Given the description of an element on the screen output the (x, y) to click on. 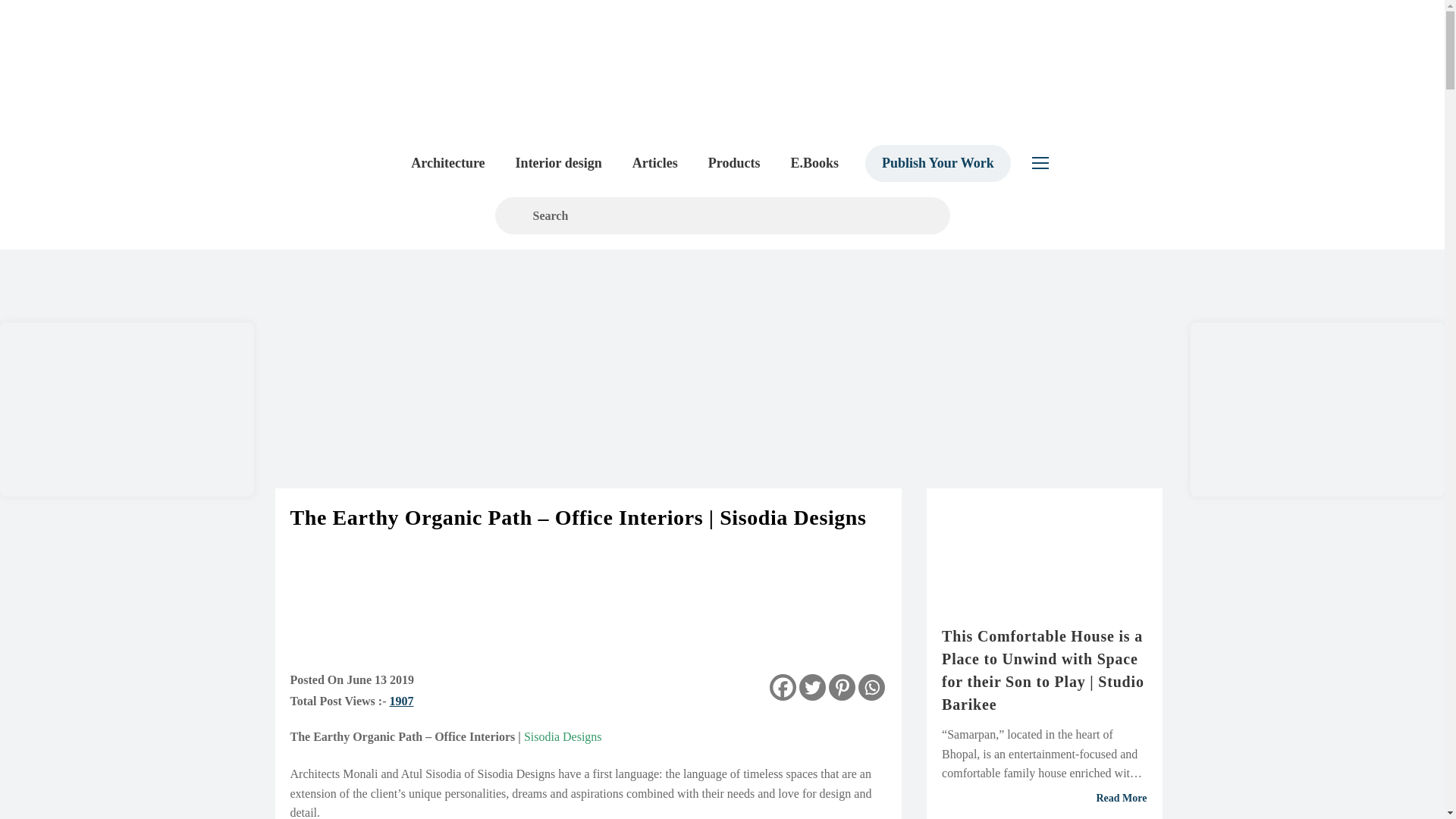
Interior design (558, 162)
Sisodia Designs (563, 736)
E.Books (813, 162)
Architecture (447, 162)
search (722, 215)
Read More (1044, 798)
Publish Your Work (937, 162)
Articles (655, 162)
Products (734, 162)
